Given the description of an element on the screen output the (x, y) to click on. 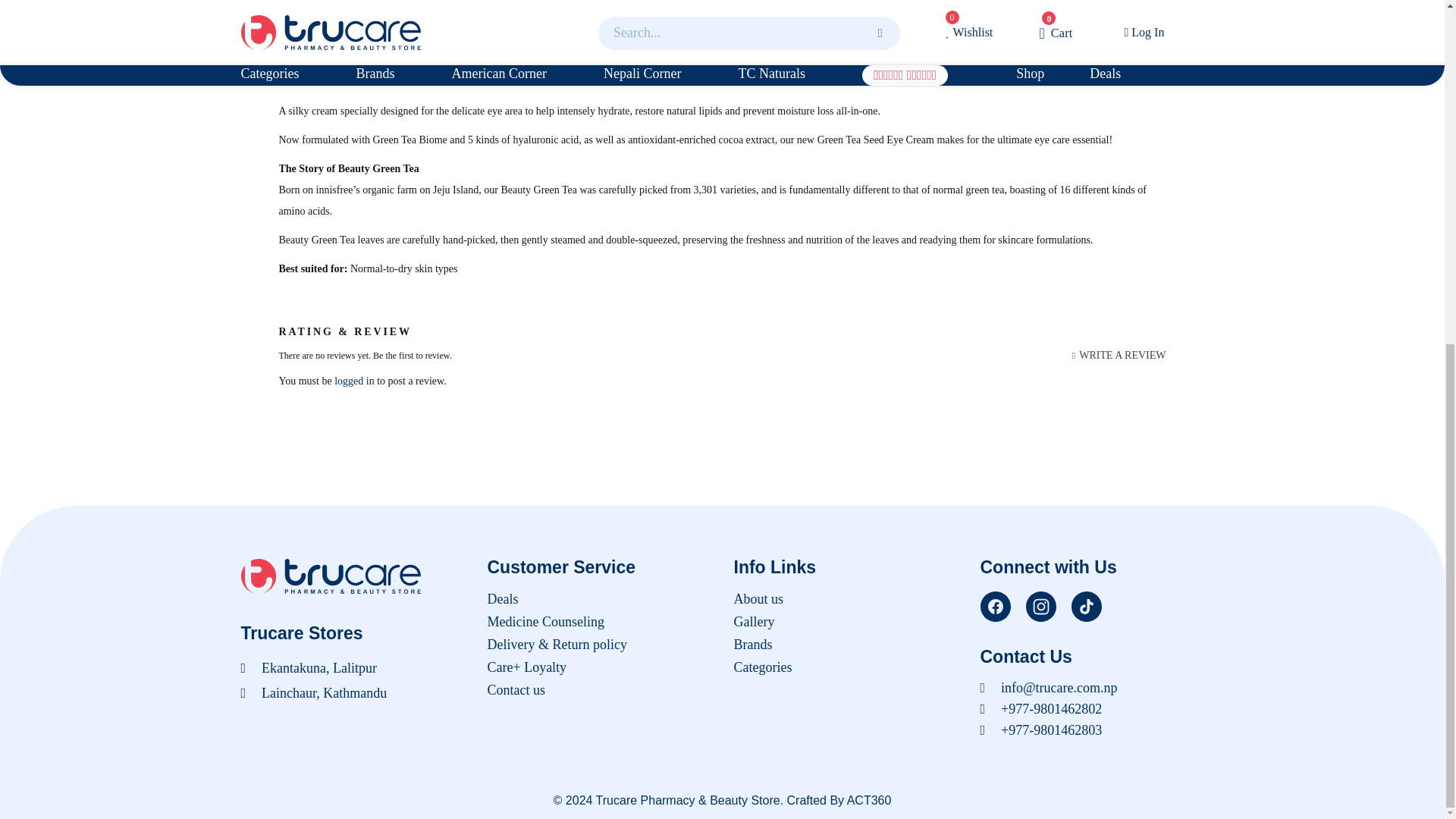
Innisfree Green Tea Seed Eye Cream 30Ml (571, 3)
